Given the description of an element on the screen output the (x, y) to click on. 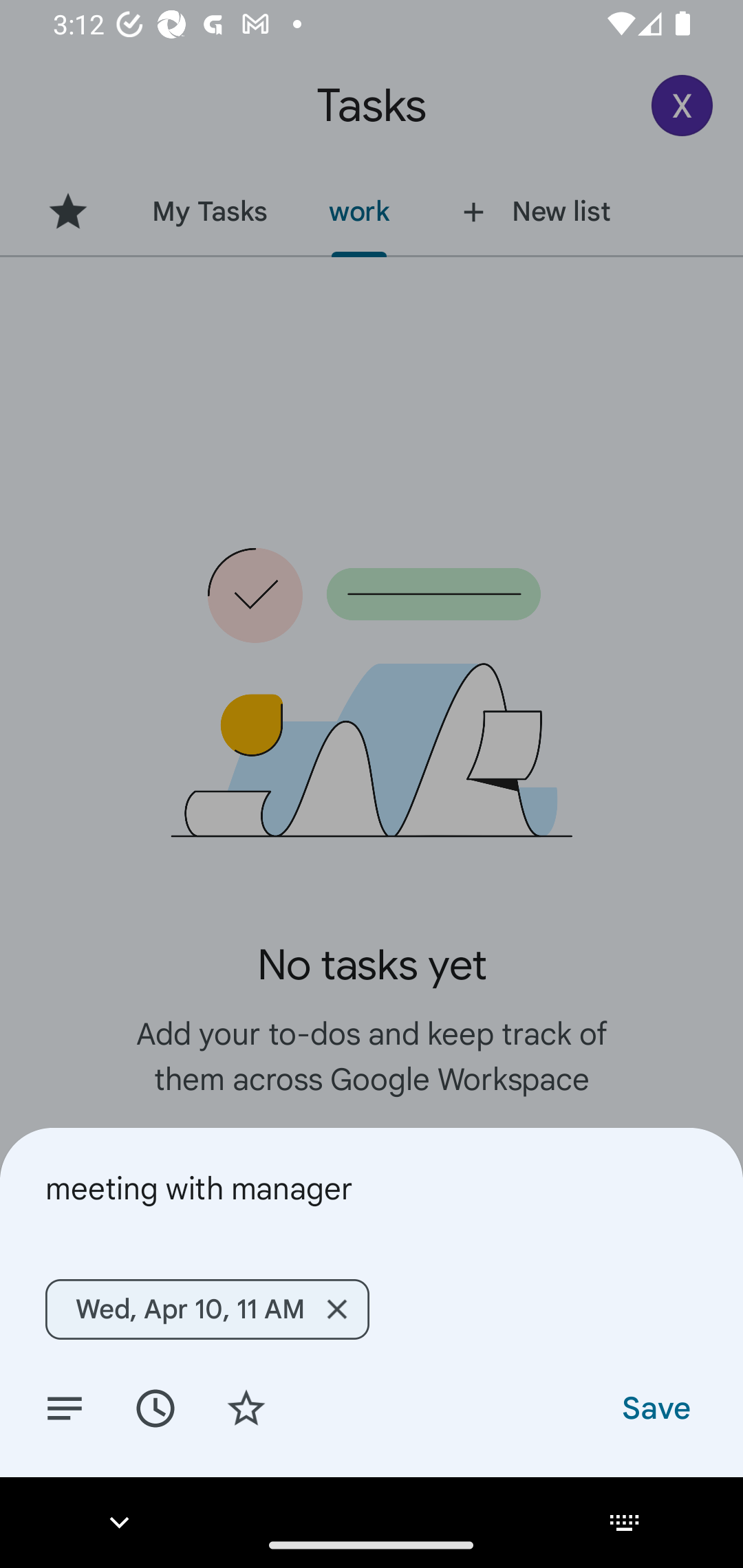
meeting with manager (371, 1188)
Wed, Apr 10, 11 AM Remove Wed, Apr 10, 11 AM (207, 1308)
Save (655, 1407)
Add details (64, 1407)
Set date/time (154, 1407)
Add star (245, 1407)
